Given the description of an element on the screen output the (x, y) to click on. 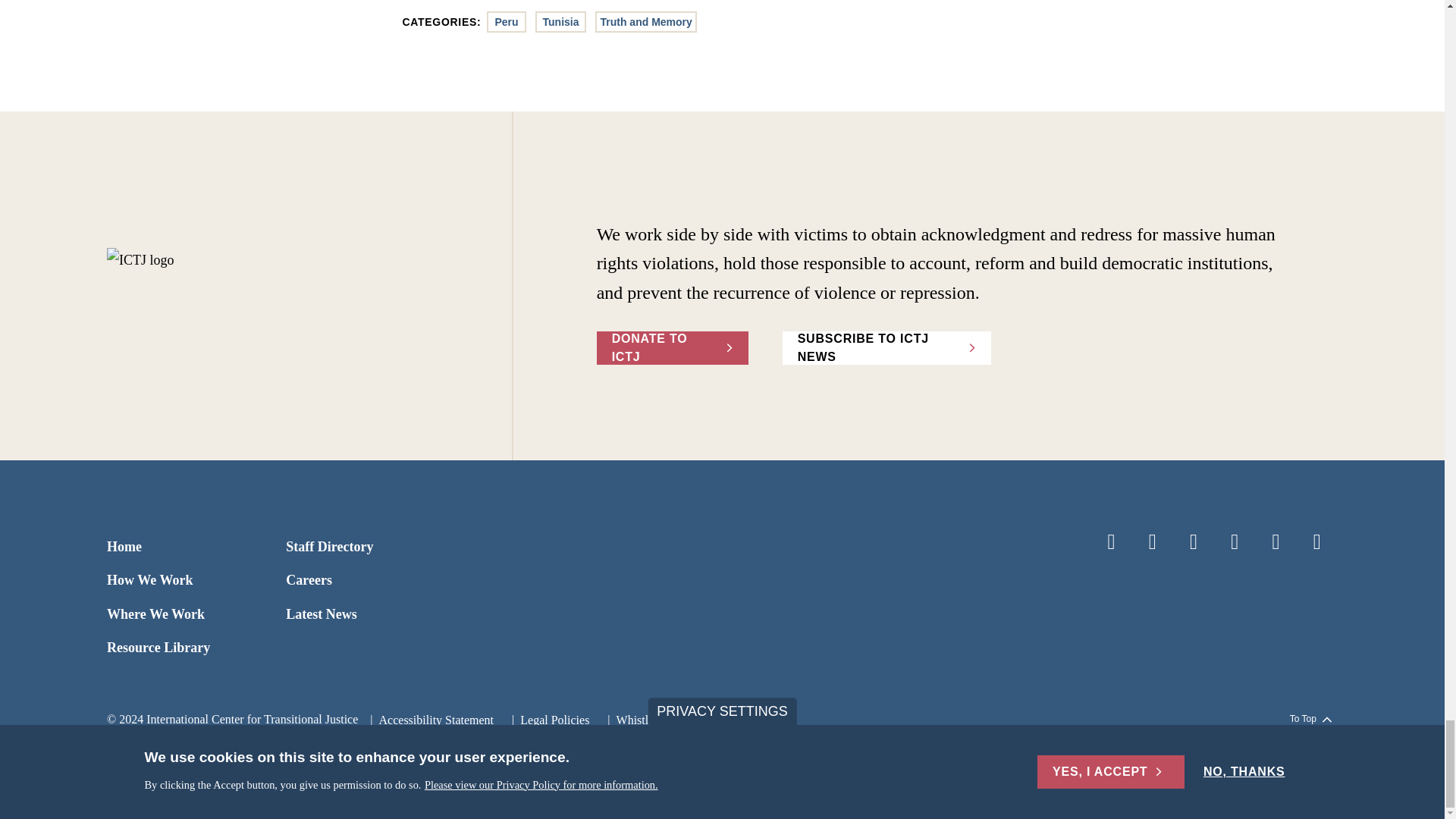
LinkedIn (1193, 541)
instagram (1234, 541)
Privacy Policy, Terms of Use, Whistleblower Policy (547, 719)
Twitter (1152, 541)
Medium (1317, 541)
facebook (1110, 541)
Youtube (1275, 541)
